Given the description of an element on the screen output the (x, y) to click on. 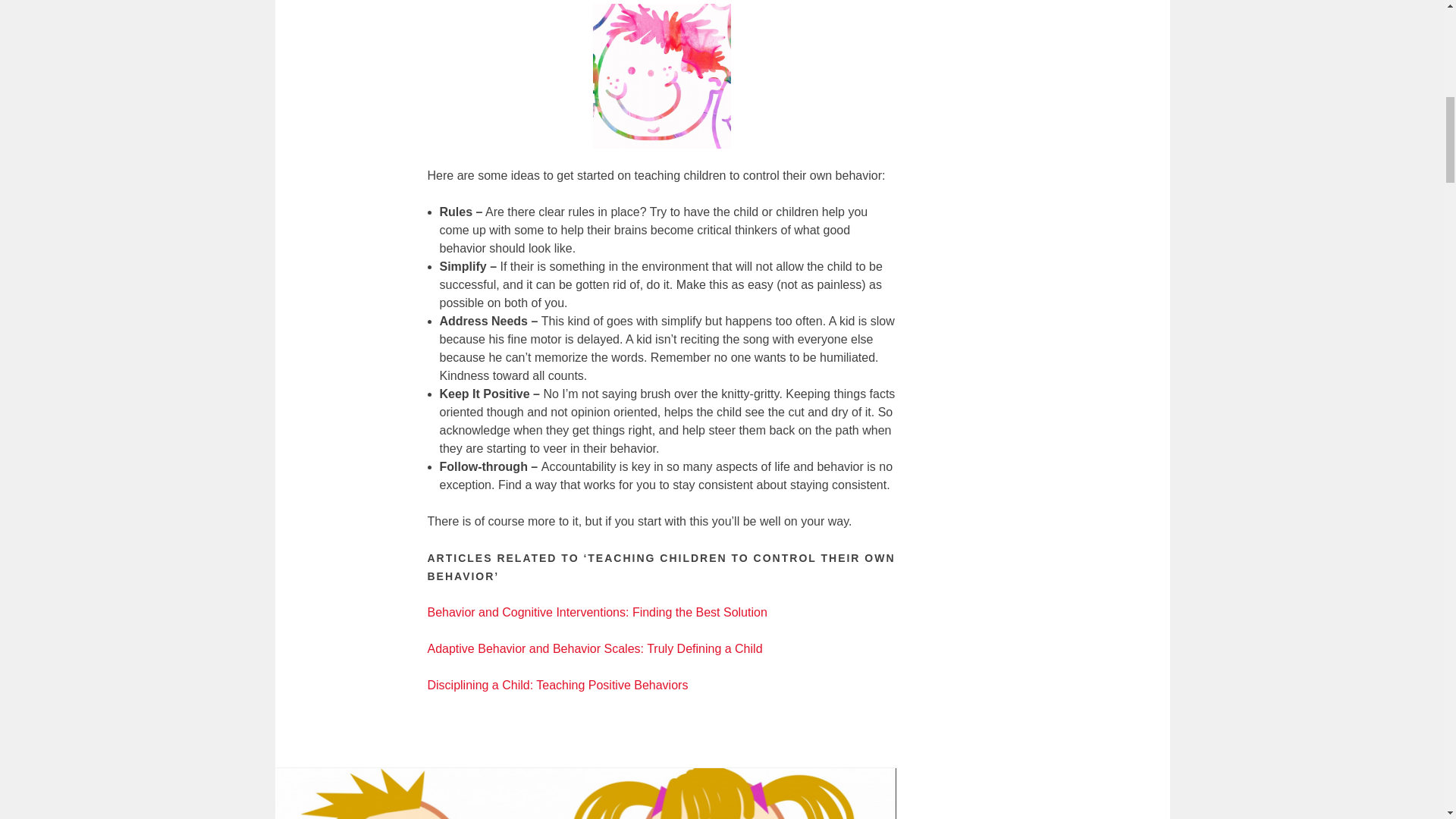
Disciplining a Child: Teaching Positive Behaviors (558, 684)
